Given the description of an element on the screen output the (x, y) to click on. 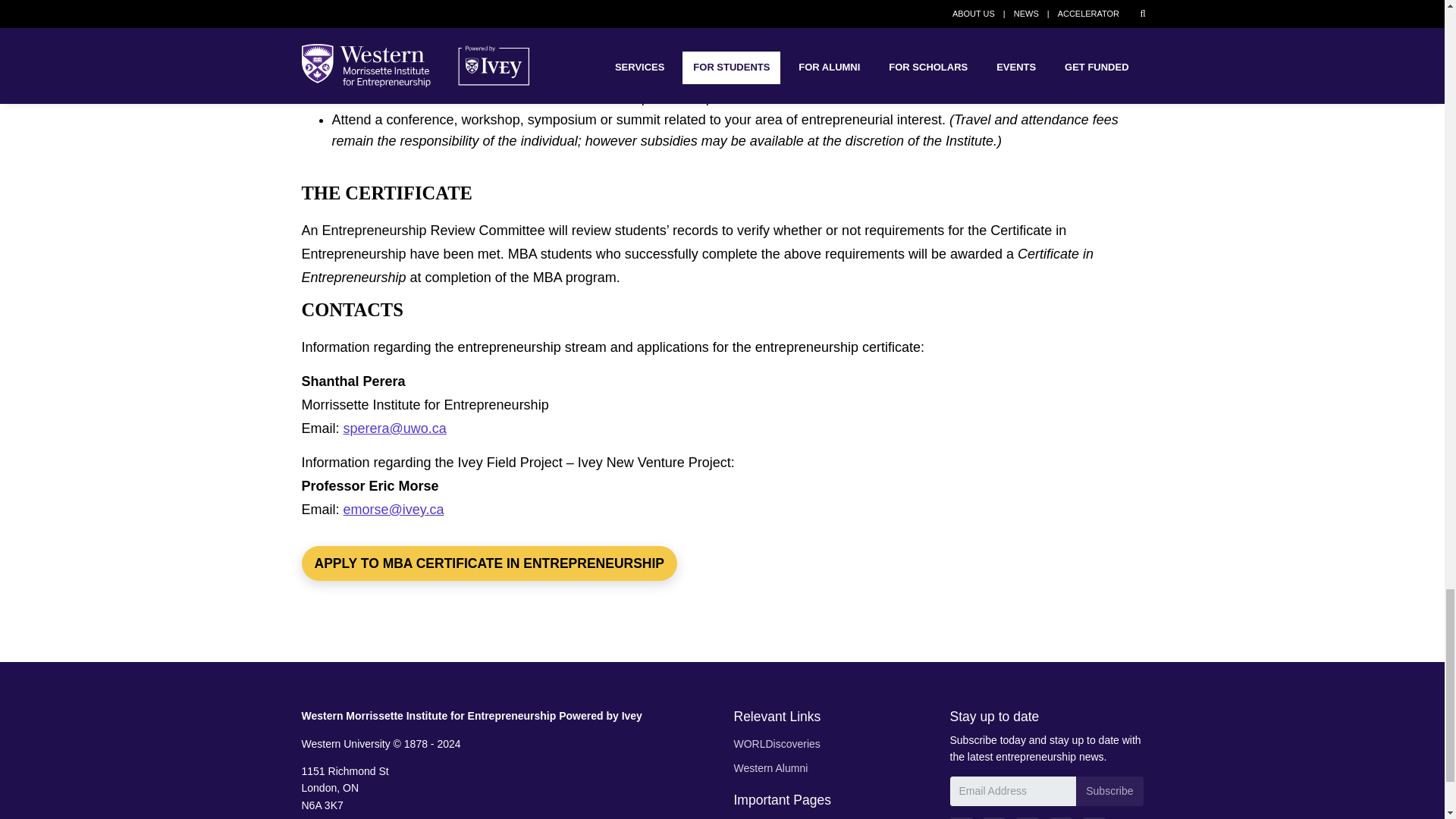
Subscribe (1108, 790)
